Given the description of an element on the screen output the (x, y) to click on. 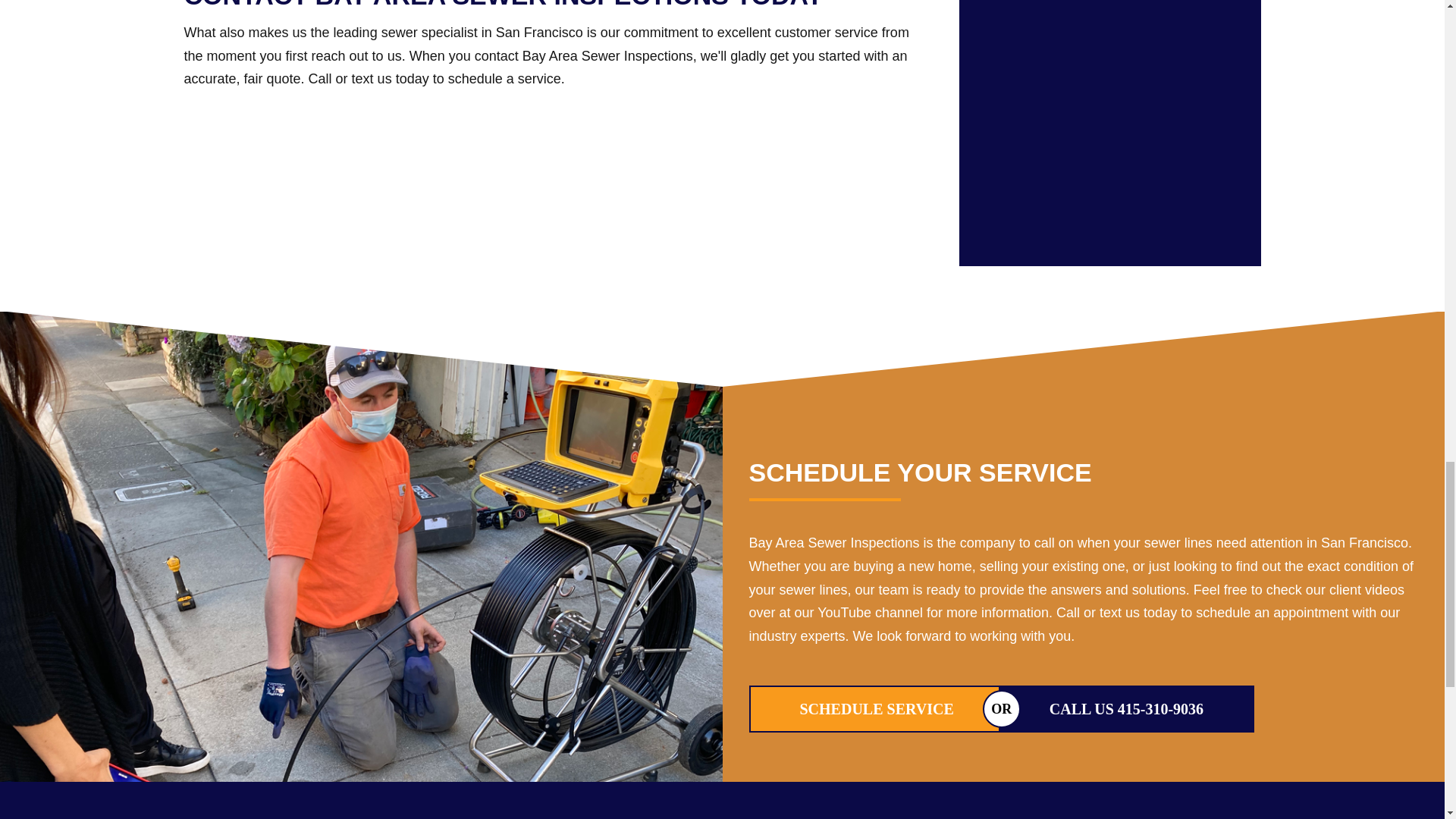
reliable professionals (1041, 38)
CALL US 415-310-9036 (1126, 709)
-Logo (721, 815)
highly recommended (1178, 38)
satisfaction guarantee (1178, 167)
SCHEDULE SERVICE (876, 709)
warrantied services (1041, 167)
